Given the description of an element on the screen output the (x, y) to click on. 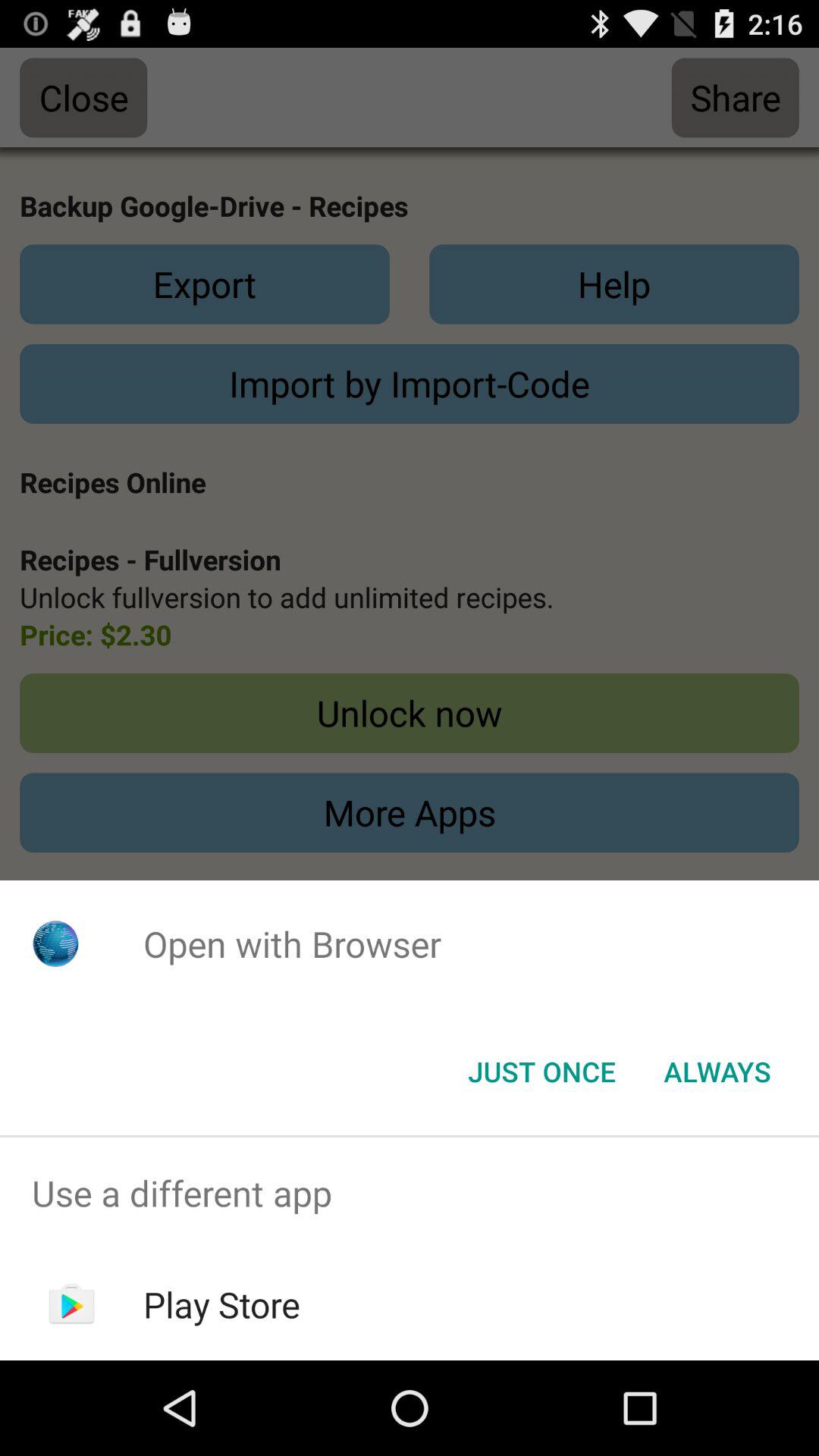
launch the item at the bottom right corner (717, 1071)
